Given the description of an element on the screen output the (x, y) to click on. 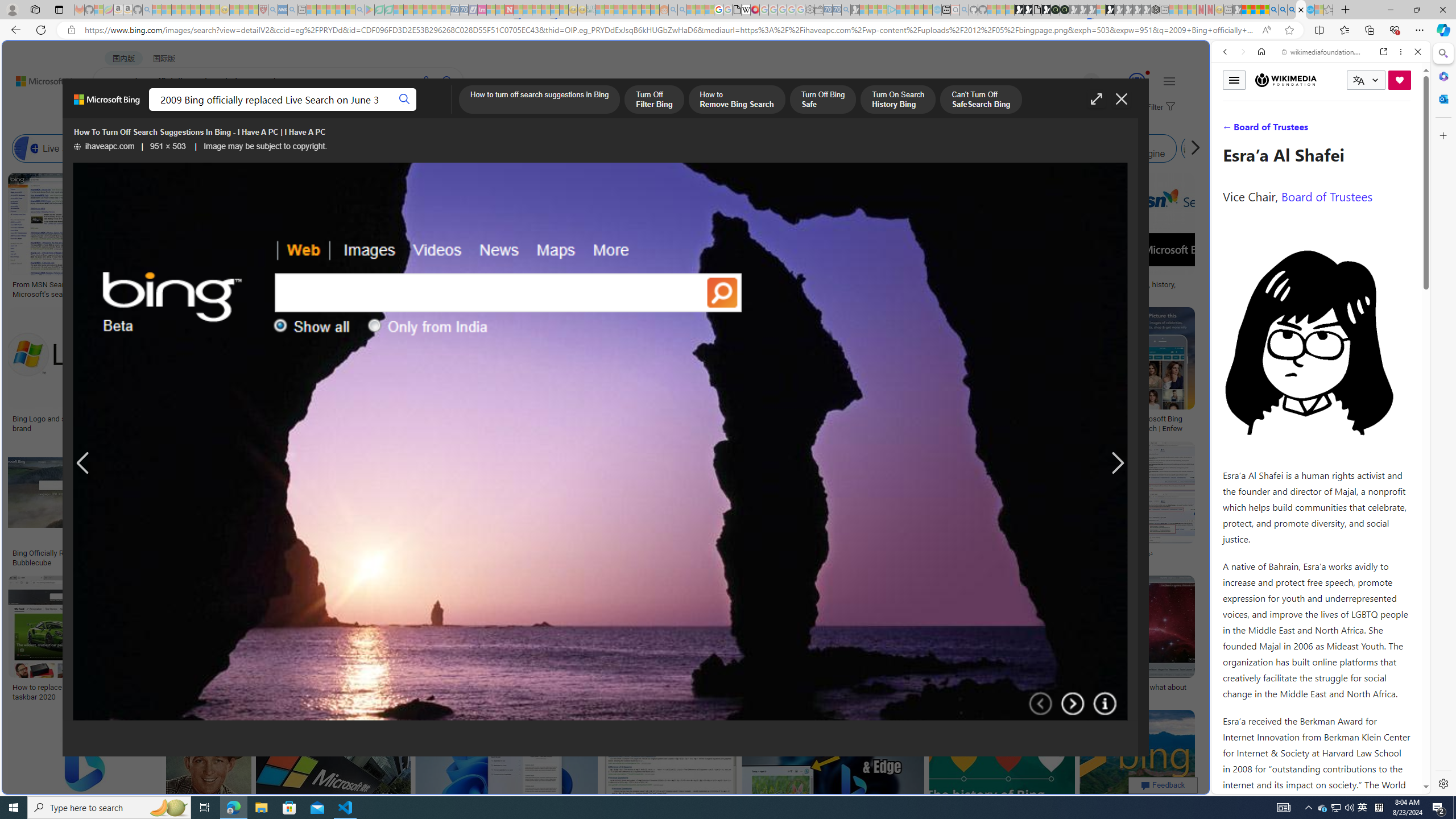
DICT (407, 111)
AutomationID: rh_meter (1136, 80)
Bing Logo Design Evolution 2009 to 2016 | Smithographic (586, 288)
Bing (2009) (RARE/FAKE) - YouTubeSave (944, 505)
Web scope (1230, 102)
New Report Confirms 2023 Was Record Hot | Watch - Sleeping (195, 9)
Back to Bing search (41, 78)
